Given the description of an element on the screen output the (x, y) to click on. 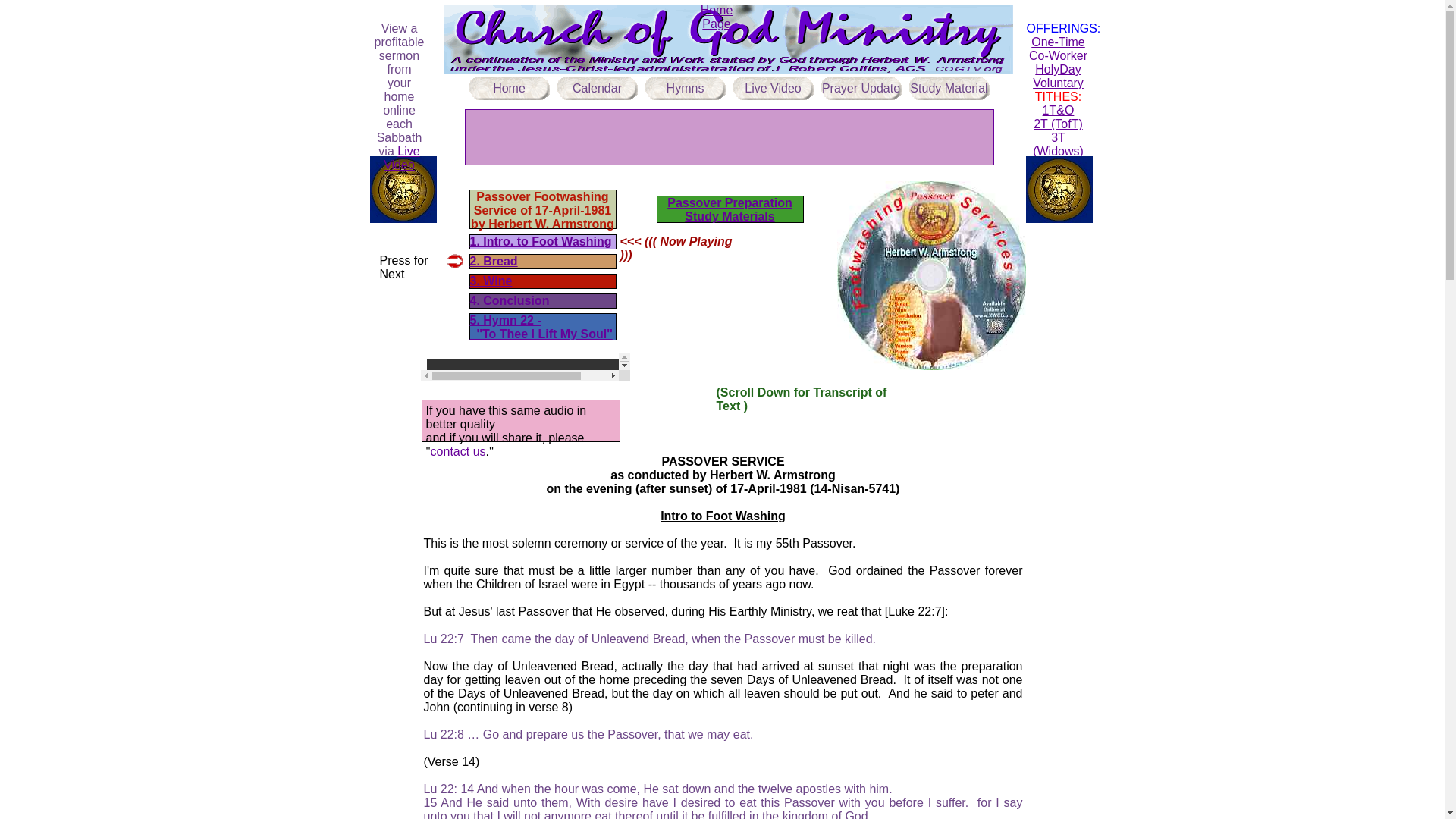
3. Wine (491, 280)
Study Material (948, 87)
  ''To Thee I Lift My Soul'' (541, 333)
Live Video (401, 157)
contact us (458, 451)
Voluntary (1057, 82)
2. Bread (494, 260)
Passover Preparation (729, 202)
1. Intro. to Foot Washing (540, 241)
5. Hymn 22 - (505, 319)
